Given the description of an element on the screen output the (x, y) to click on. 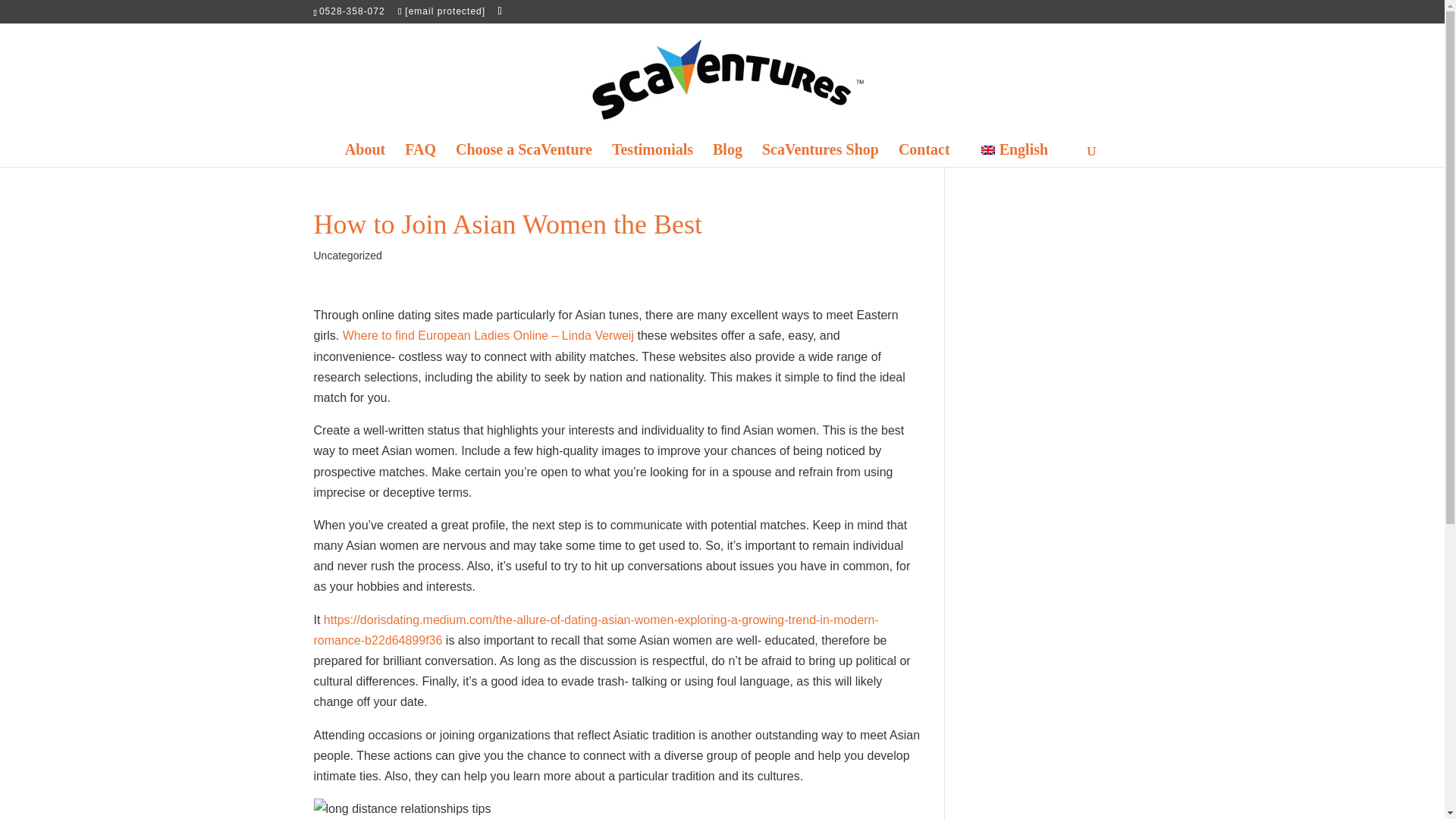
About (365, 159)
English (1014, 159)
Testimonials (652, 159)
English (1014, 159)
Choose a ScaVenture (523, 159)
Blog (727, 159)
Contact (924, 159)
ScaVentures Shop (820, 159)
FAQ (419, 159)
